Given the description of an element on the screen output the (x, y) to click on. 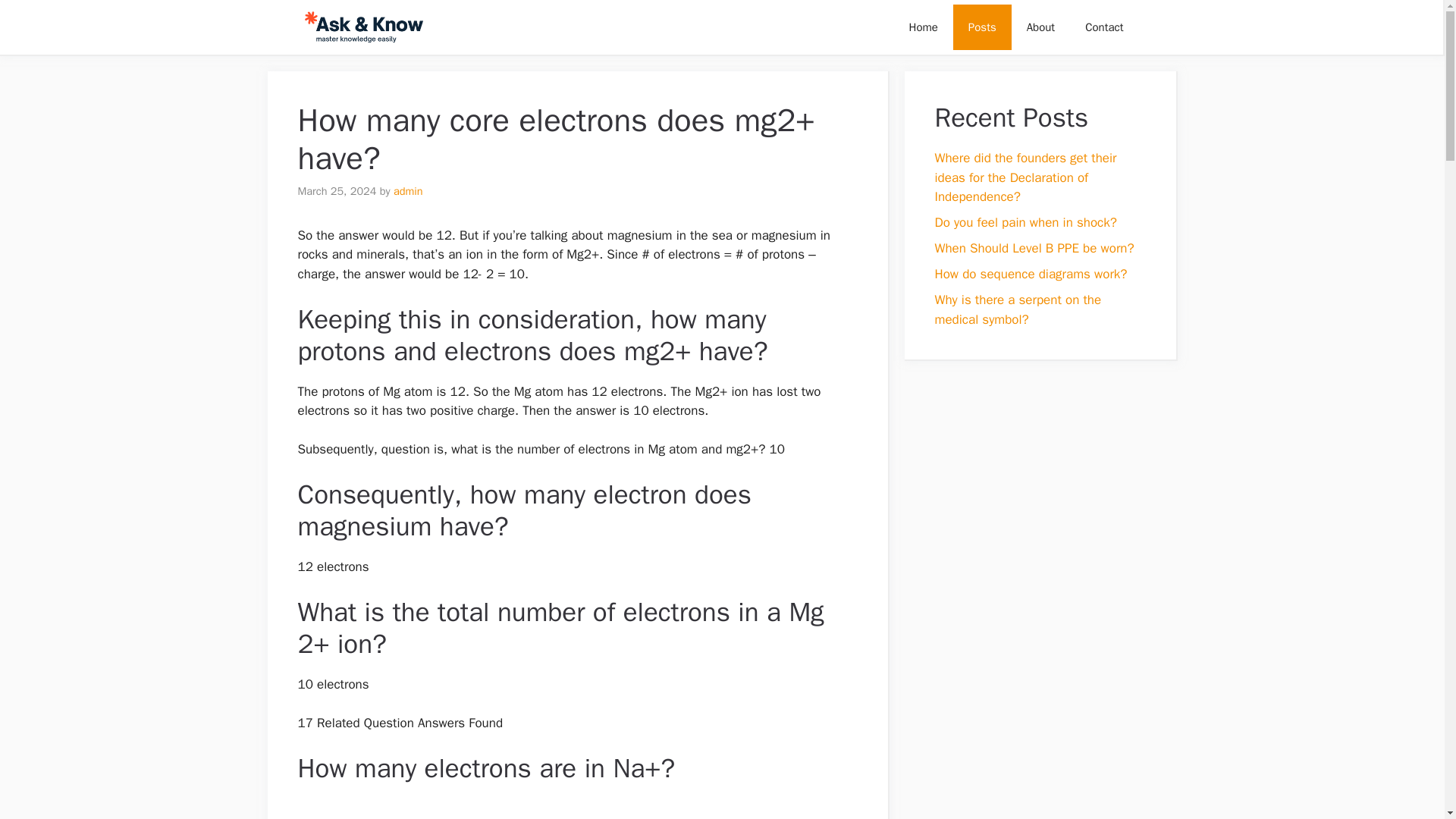
How do sequence diagrams work? (1030, 273)
View all posts by admin (408, 191)
Why is there a serpent on the medical symbol? (1017, 309)
Contact (1104, 26)
admin (408, 191)
About (1040, 26)
When Should Level B PPE be worn? (1034, 248)
Advertisement (569, 809)
Home (922, 26)
Do you feel pain when in shock? (1025, 222)
Posts (982, 26)
